Given the description of an element on the screen output the (x, y) to click on. 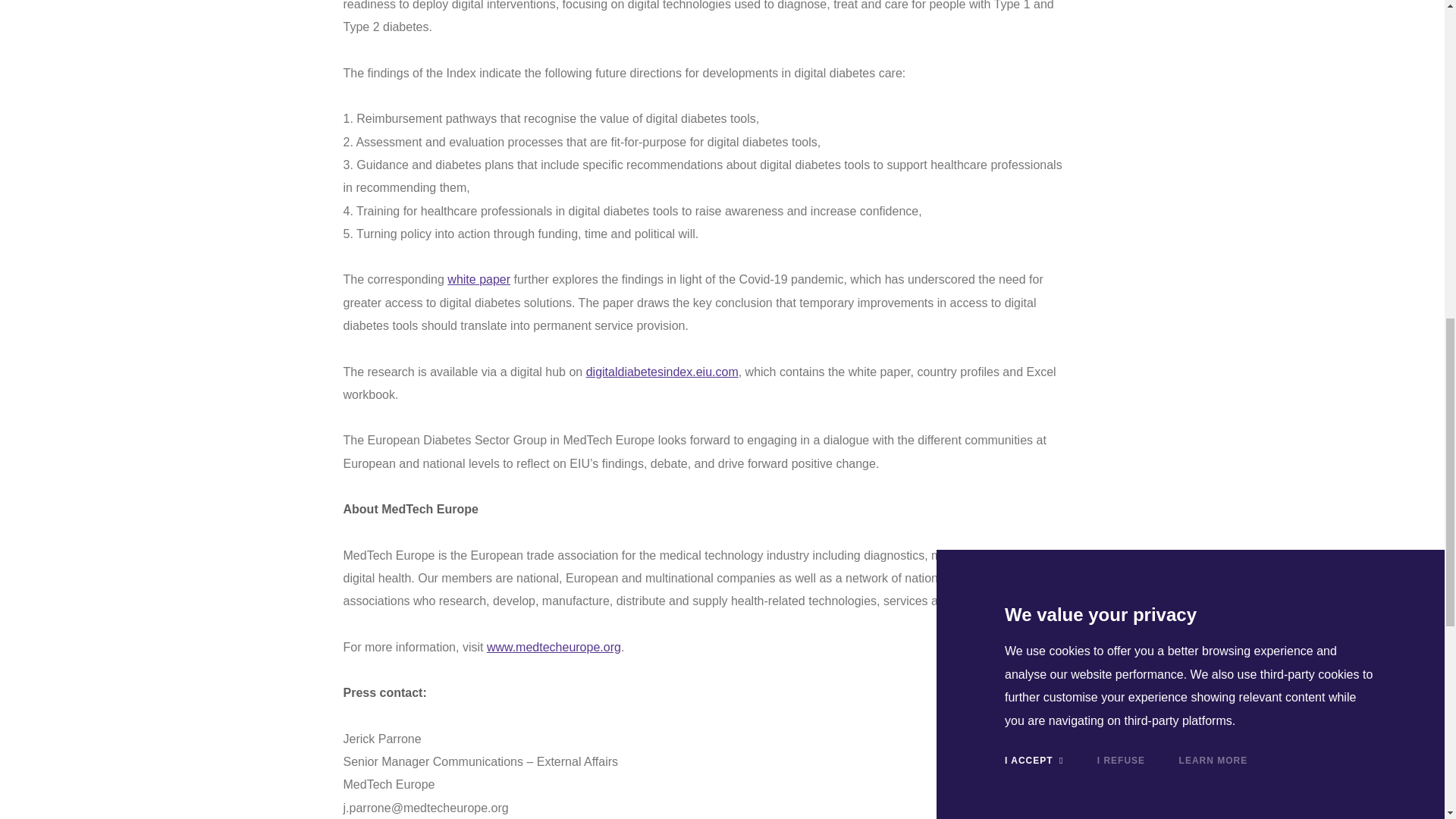
Share on Twitter (1202, 805)
Share on Linkedin (1202, 777)
